Given the description of an element on the screen output the (x, y) to click on. 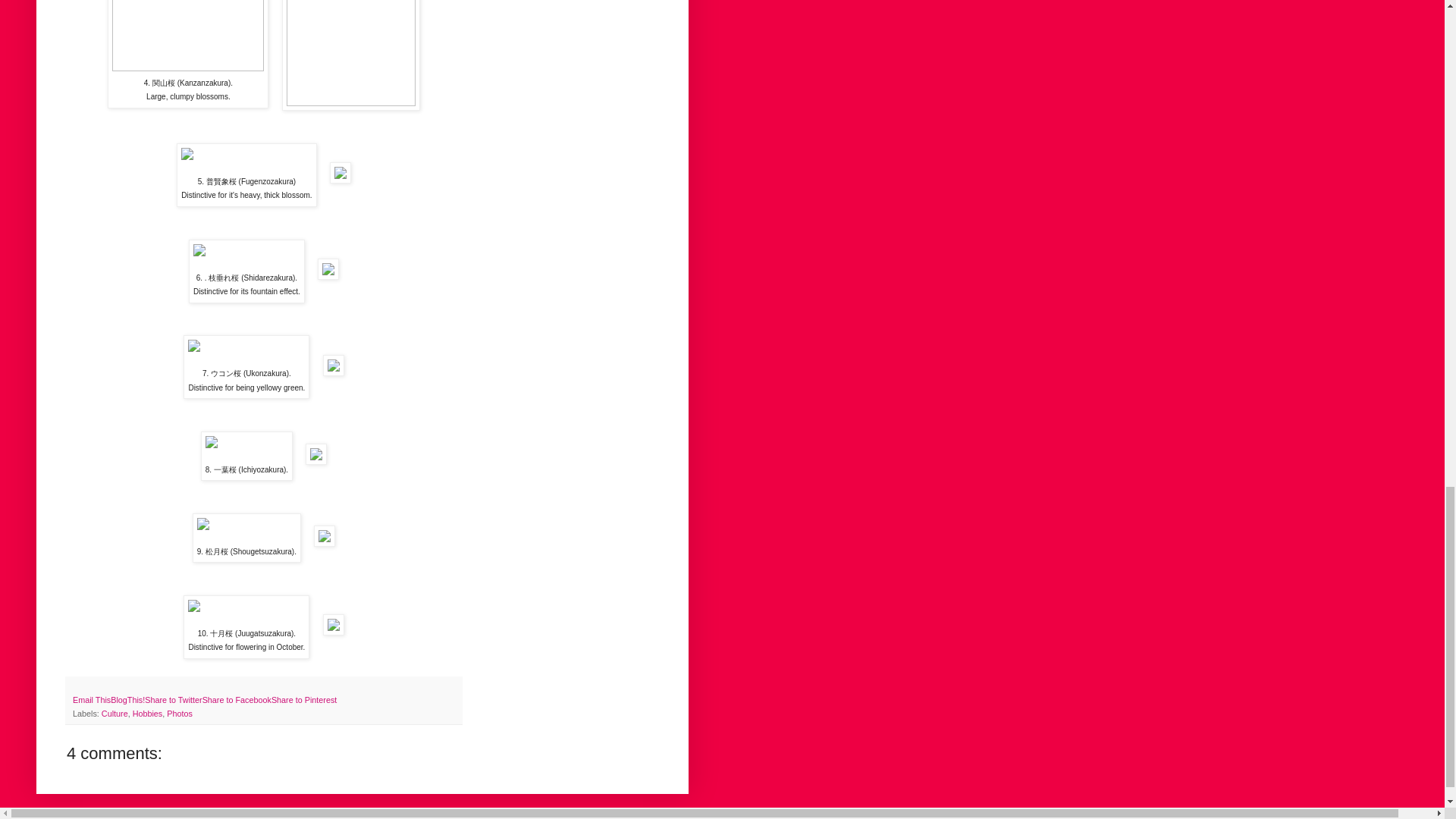
Share to Pinterest (303, 699)
Hobbies (147, 713)
BlogThis! (127, 699)
Share to Twitter (173, 699)
BlogThis! (127, 699)
Share to Facebook (236, 699)
Email Post (78, 686)
Photos (179, 713)
Email This (91, 699)
Share to Facebook (236, 699)
Share to Pinterest (303, 699)
Share to Twitter (173, 699)
Culture (114, 713)
Email This (91, 699)
